Given the description of an element on the screen output the (x, y) to click on. 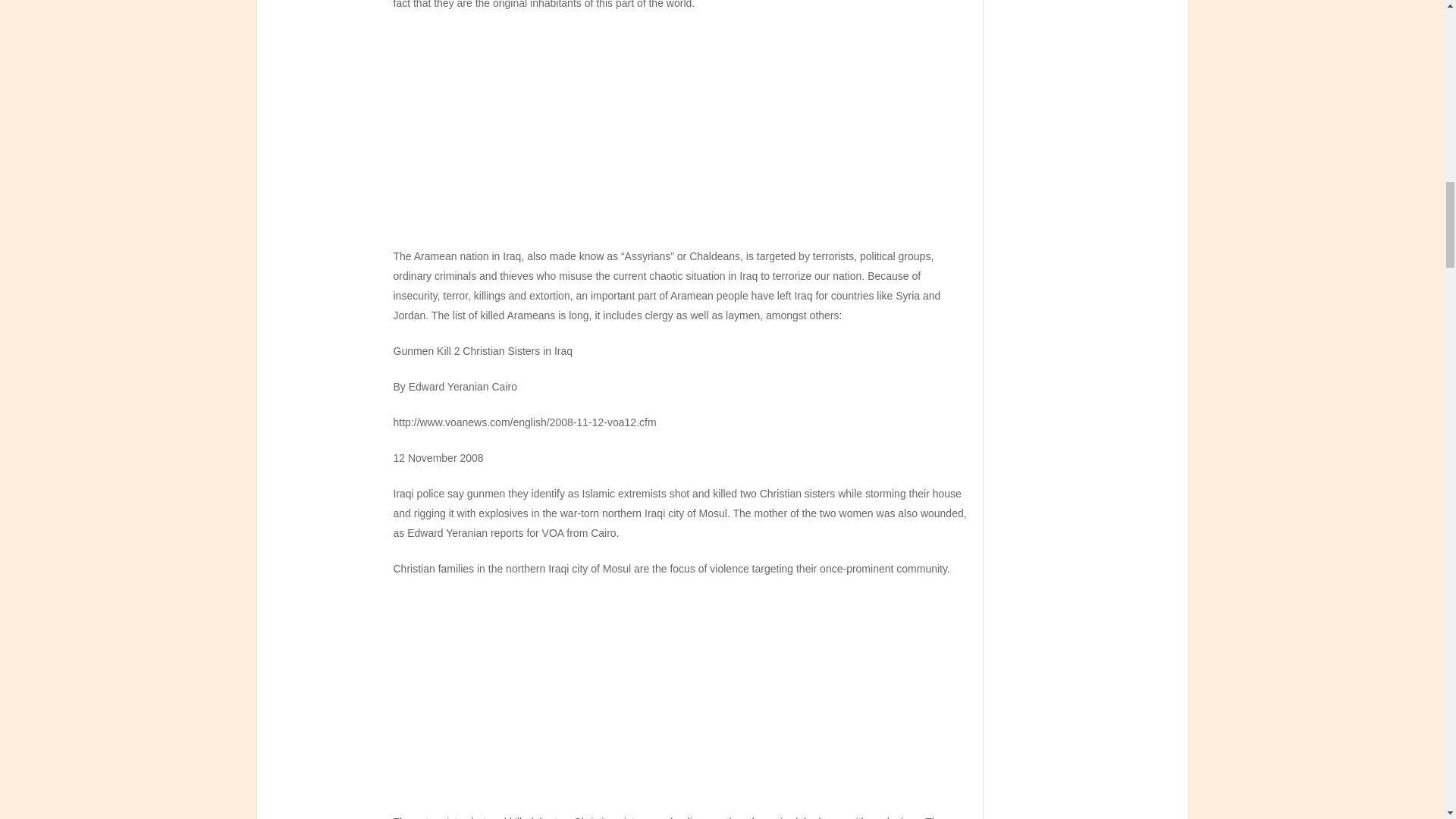
Advertisement (680, 700)
Advertisement (680, 134)
